Given the description of an element on the screen output the (x, y) to click on. 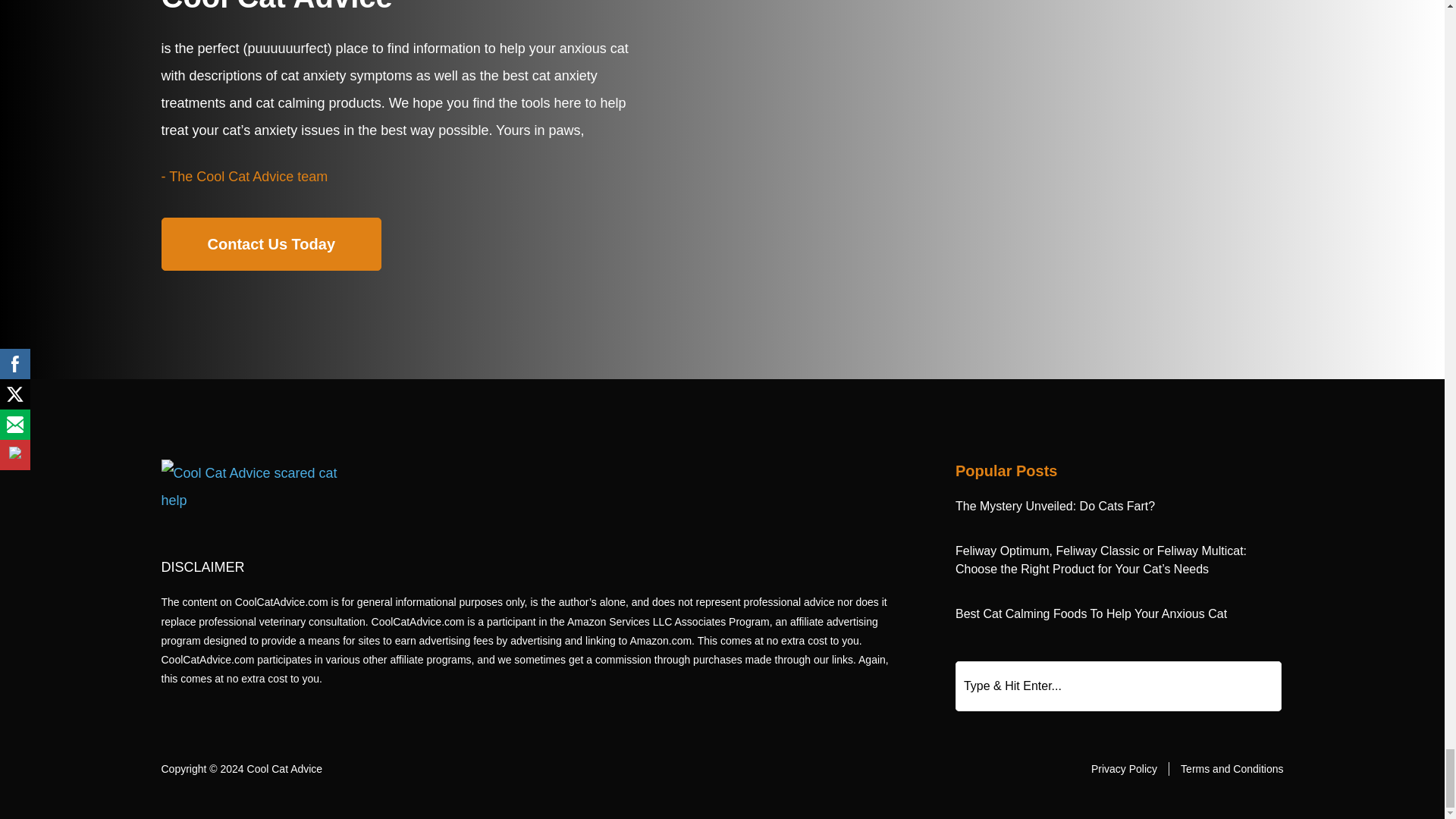
Search (1118, 685)
